Given the description of an element on the screen output the (x, y) to click on. 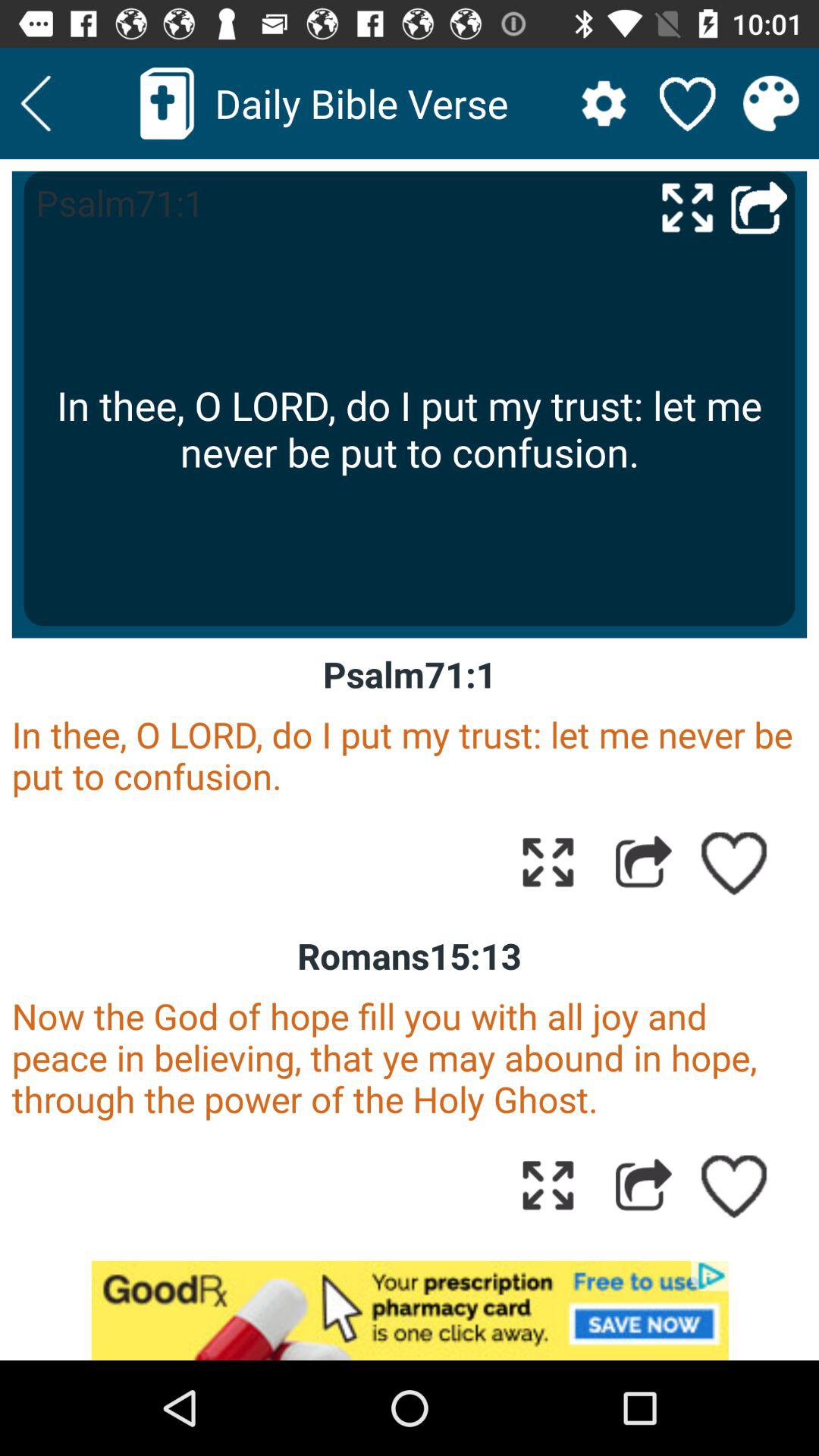
share (643, 1184)
